Given the description of an element on the screen output the (x, y) to click on. 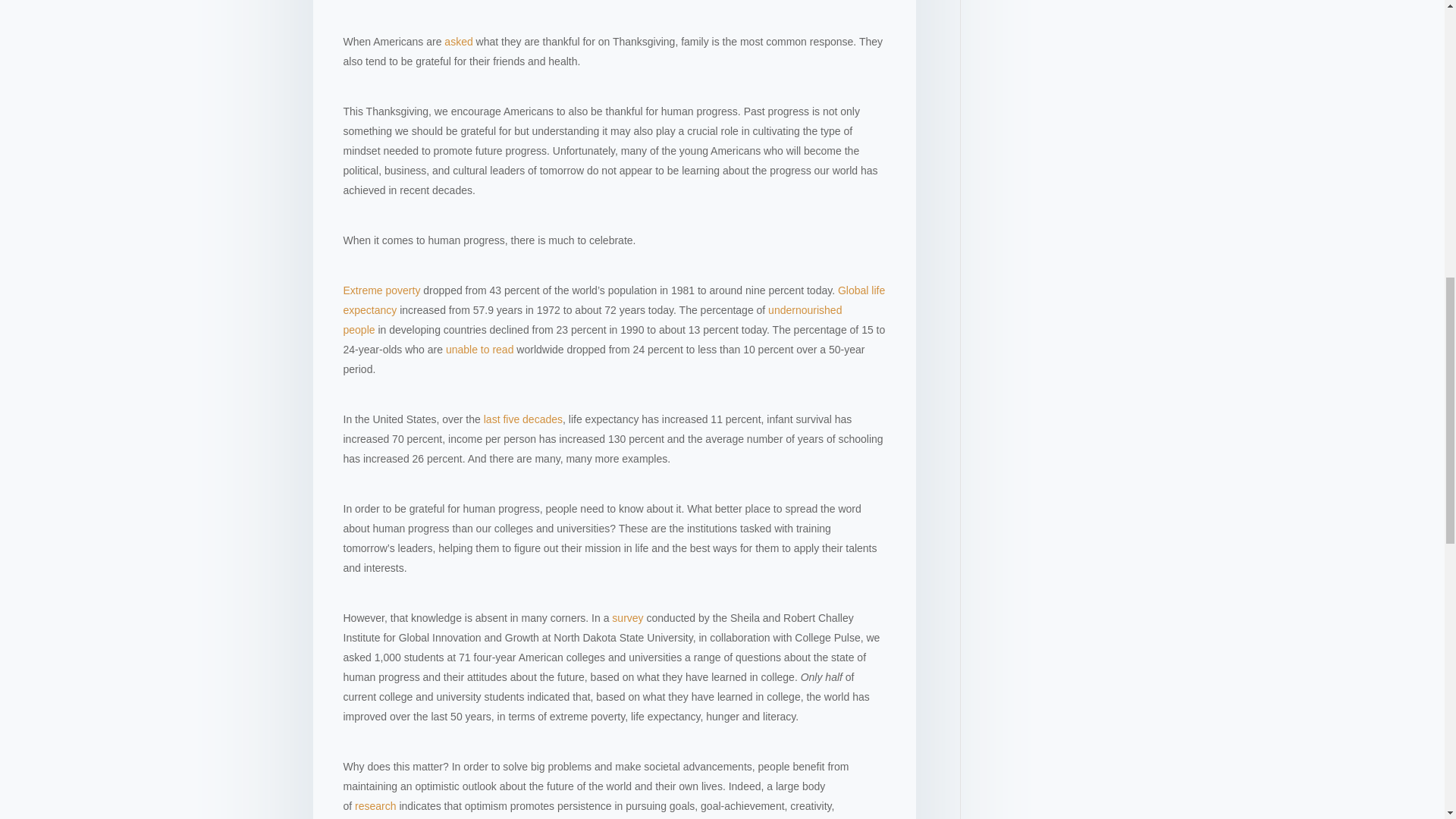
unable to read (479, 349)
Extreme poverty (381, 290)
 undernourished people (591, 319)
 research (374, 806)
 Global life expectancy (613, 300)
last five decades (522, 419)
asked (457, 41)
survey (627, 617)
